Given the description of an element on the screen output the (x, y) to click on. 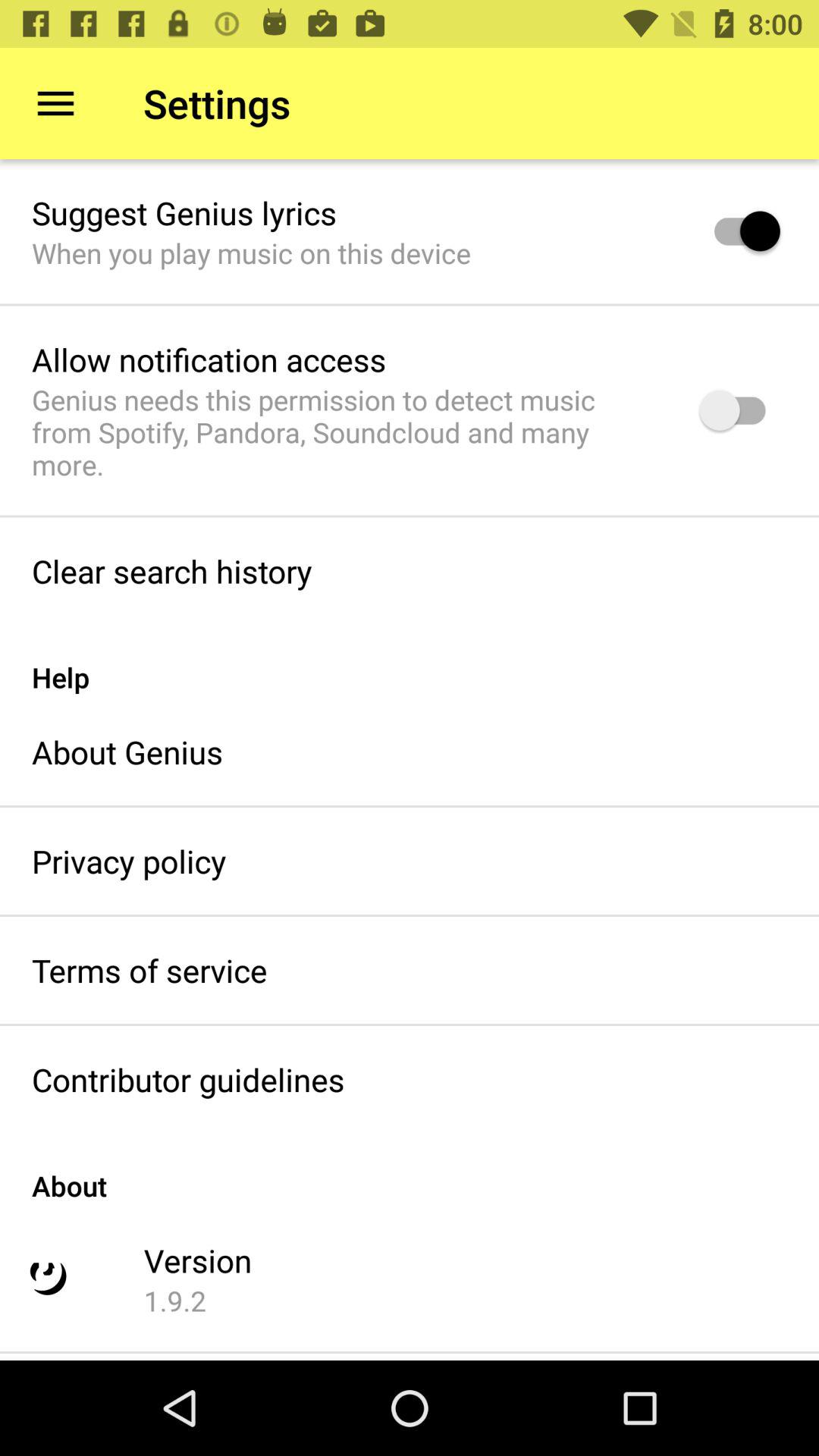
open contributor guidelines item (187, 1079)
